Given the description of an element on the screen output the (x, y) to click on. 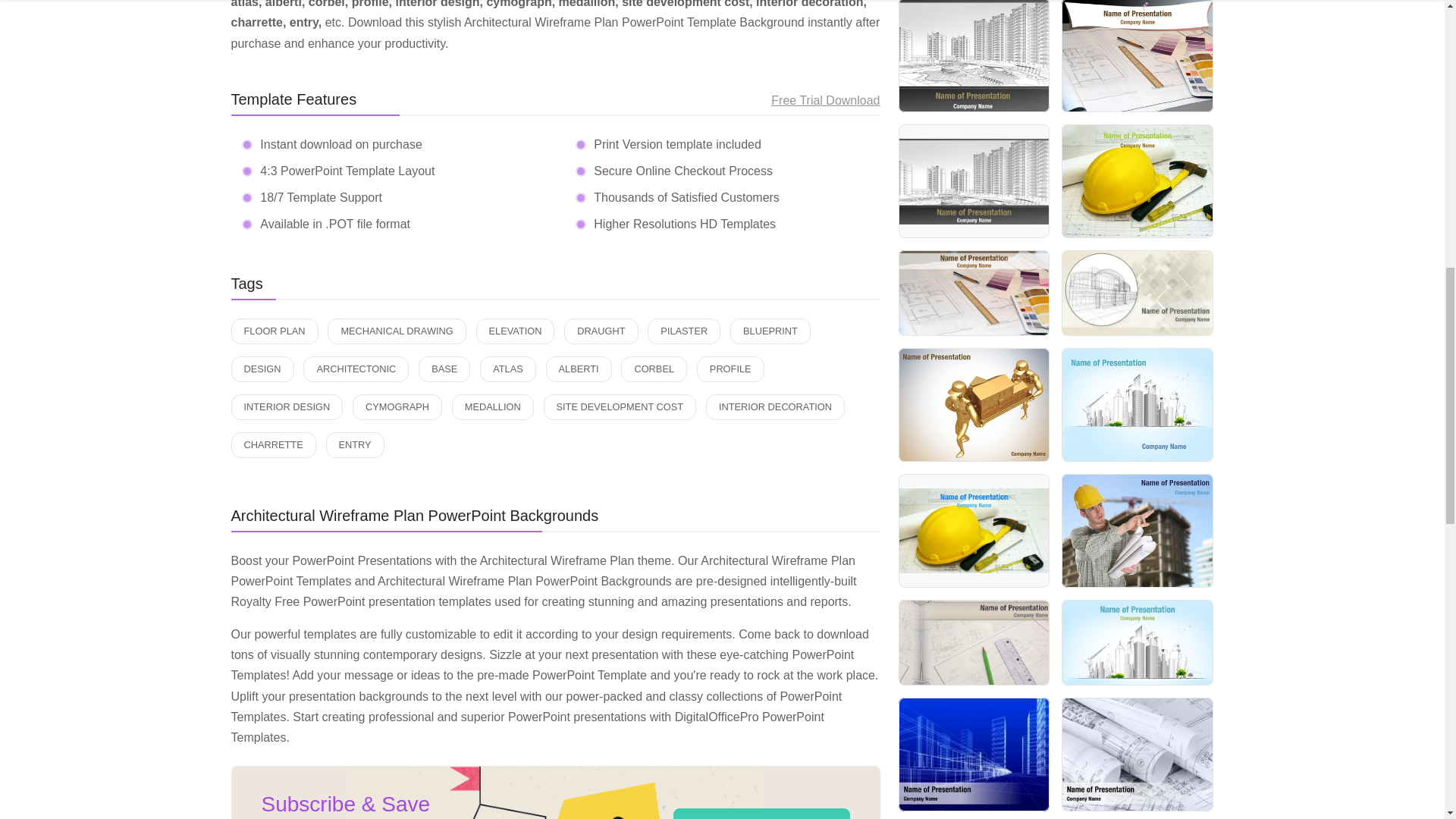
PILASTER (683, 330)
draught powerpoint templates (600, 330)
INTERIOR DESIGN (286, 406)
architectonic powerpoint templates (355, 369)
PROFILE (730, 369)
medallion powerpoint templates (492, 406)
BASE (444, 369)
design powerpoint templates (262, 369)
BLUEPRINT (770, 330)
atlas powerpoint templates (507, 369)
interior design powerpoint templates (286, 406)
pilaster powerpoint templates (683, 330)
mechanical drawing powerpoint templates (396, 330)
profile powerpoint templates (730, 369)
elevation powerpoint templates (515, 330)
